Given the description of an element on the screen output the (x, y) to click on. 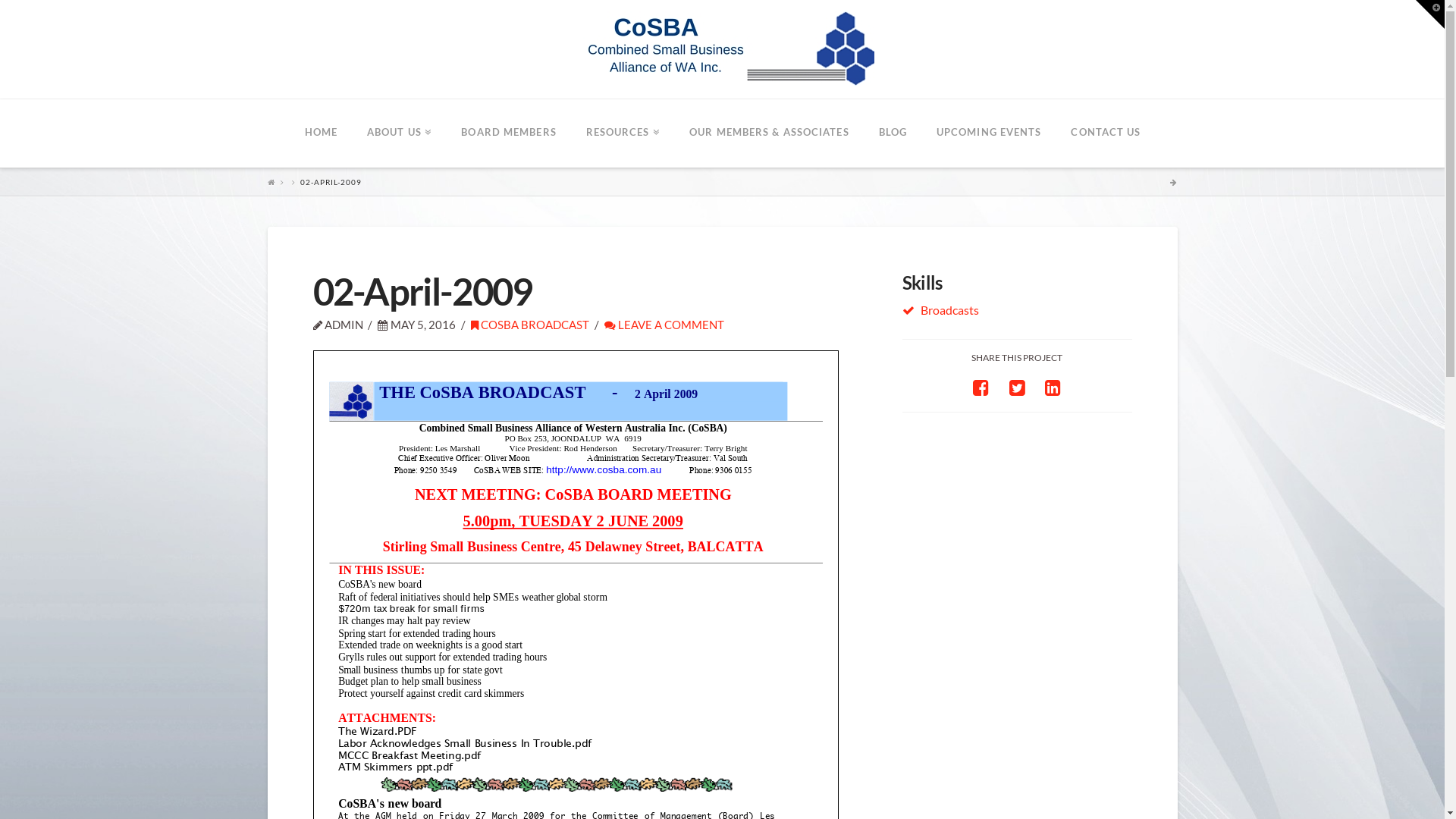
OUR MEMBERS & ASSOCIATES Element type: text (768, 133)
UPCOMING EVENTS Element type: text (988, 133)
BLOG Element type: text (892, 133)
COSBA BROADCAST Element type: text (529, 324)
CONTACT US Element type: text (1104, 133)
Toggle the Widgetbar Element type: text (1429, 14)
ABOUT US Element type: text (398, 133)
Combined Small Business Alliance of WA Inc. Element type: hover (721, 49)
Share on LinkedIn Element type: hover (1052, 387)
BOARD MEMBERS Element type: text (507, 133)
LEAVE A COMMENT Element type: text (664, 324)
RESOURCES Element type: text (622, 133)
Share on Twitter Element type: hover (1017, 387)
HOME Element type: text (320, 133)
Broadcasts Element type: text (949, 309)
Share on Facebook Element type: hover (980, 387)
